Given the description of an element on the screen output the (x, y) to click on. 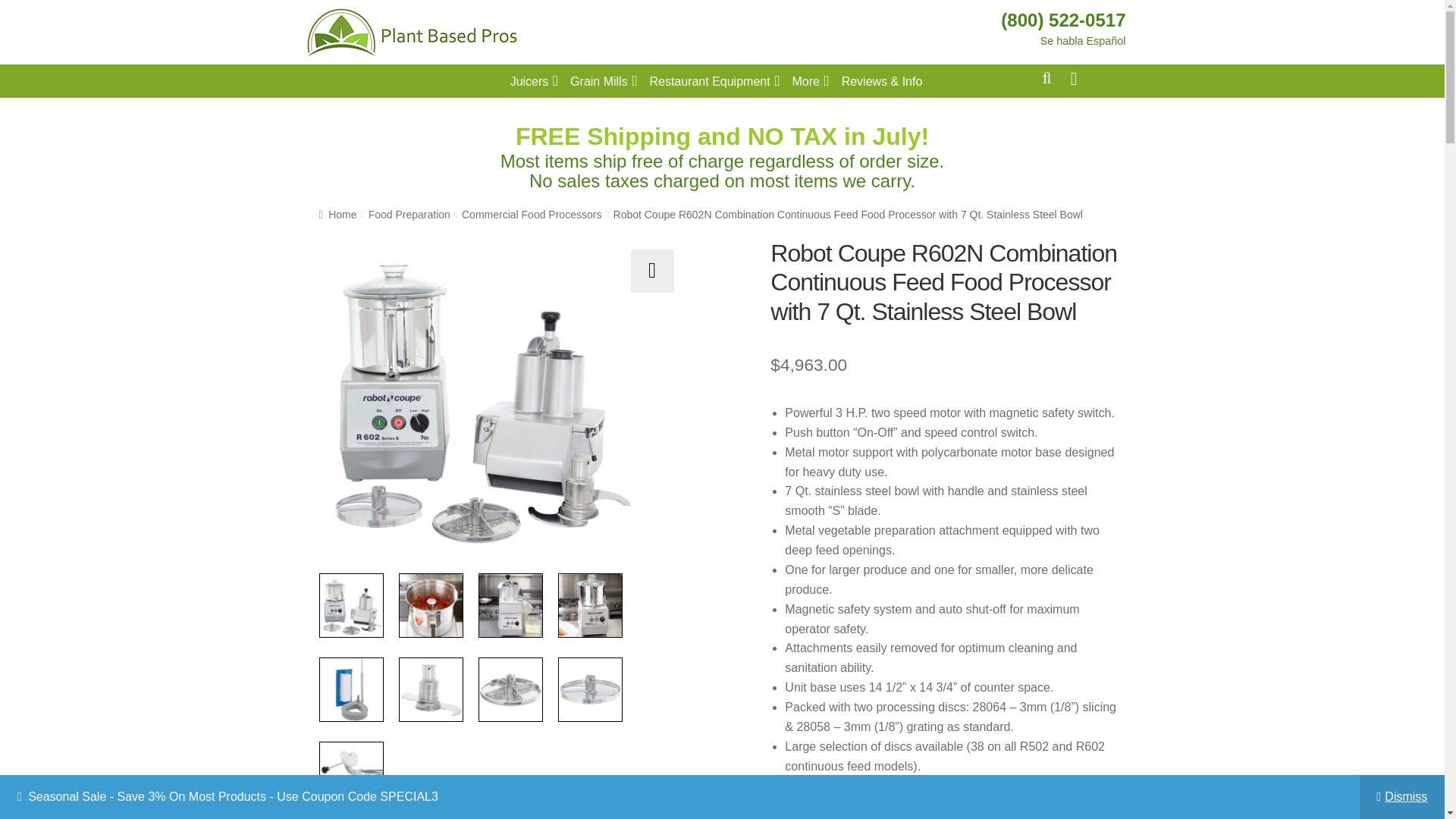
R602N Complete (476, 396)
View your shopping cart (1086, 77)
Juicers (533, 80)
Grain Mills (603, 80)
Restaurant Equipment (714, 80)
